Given the description of an element on the screen output the (x, y) to click on. 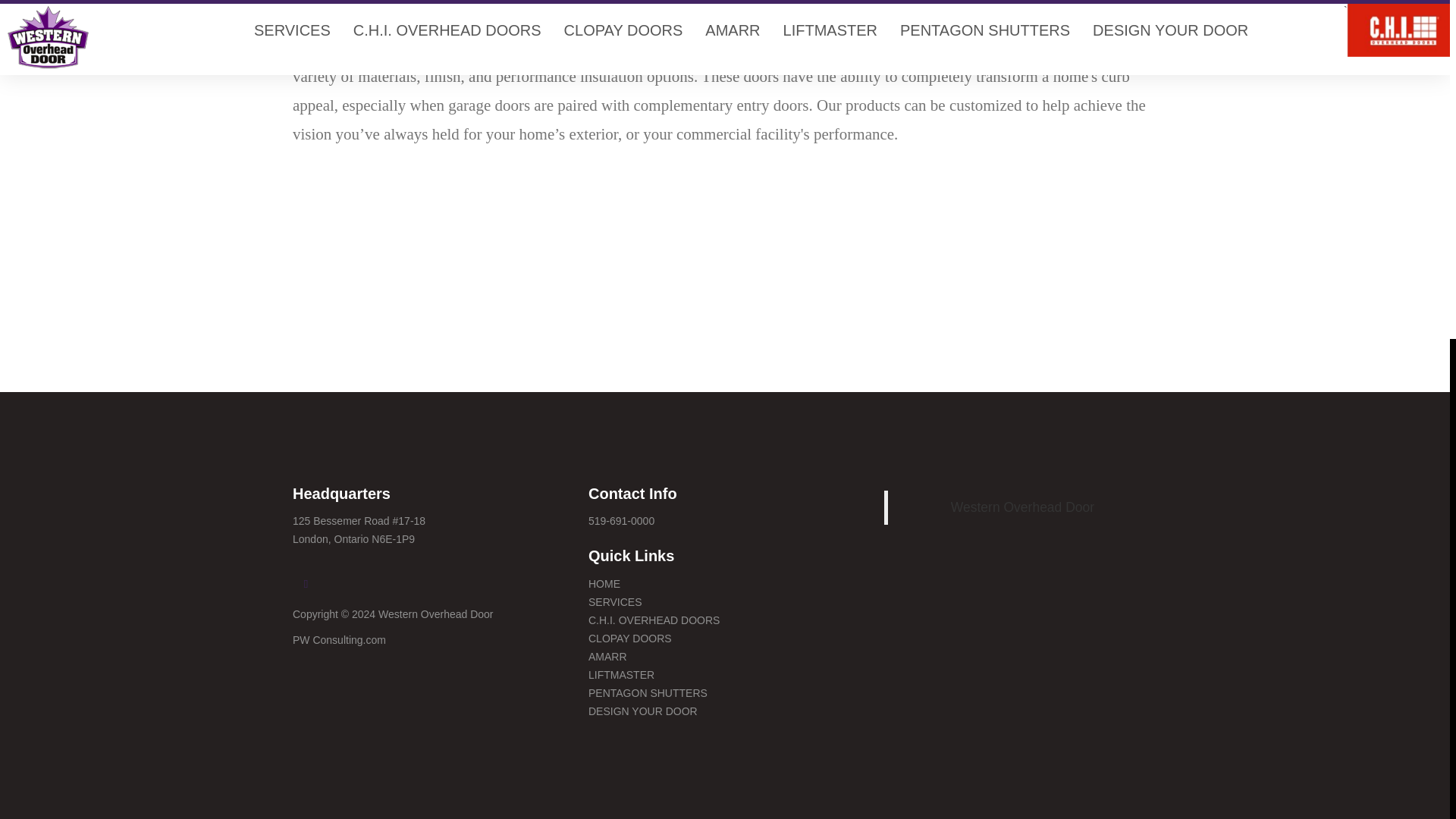
AMARR (607, 656)
C.H.I. OVERHEAD DOORS (653, 620)
DESIGN YOUR DOOR (642, 711)
PW Consulting.com (338, 639)
HOME (604, 583)
PENTAGON SHUTTERS (647, 693)
LIFTMASTER (620, 674)
SERVICES (615, 602)
CLOPAY DOORS (629, 638)
